Given the description of an element on the screen output the (x, y) to click on. 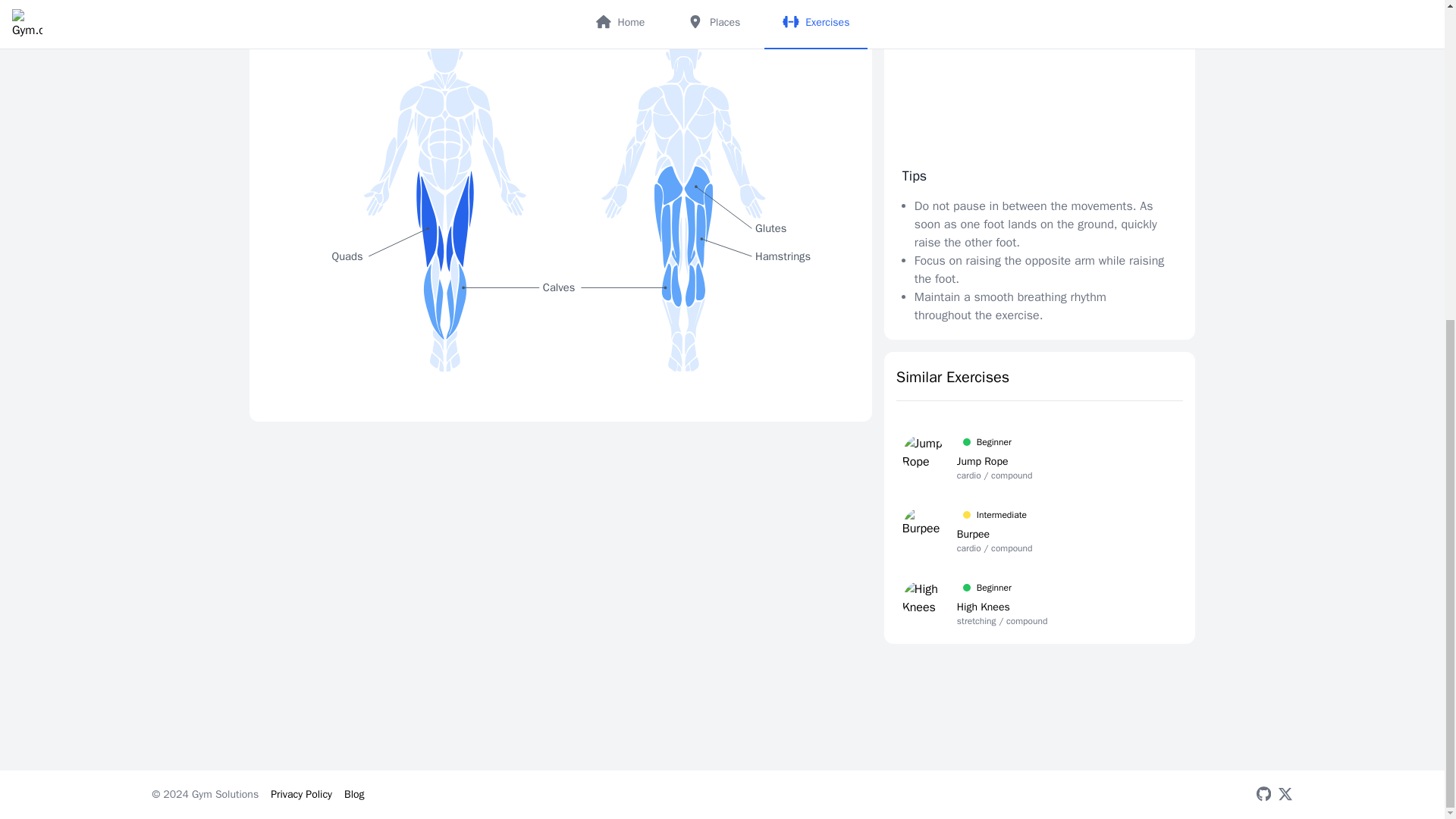
Blog (994, 441)
Burpee (354, 793)
Intermediate (994, 534)
Beginner (994, 514)
Privacy Policy (1002, 587)
Jump Rope (300, 793)
High Knees (994, 461)
